Given the description of an element on the screen output the (x, y) to click on. 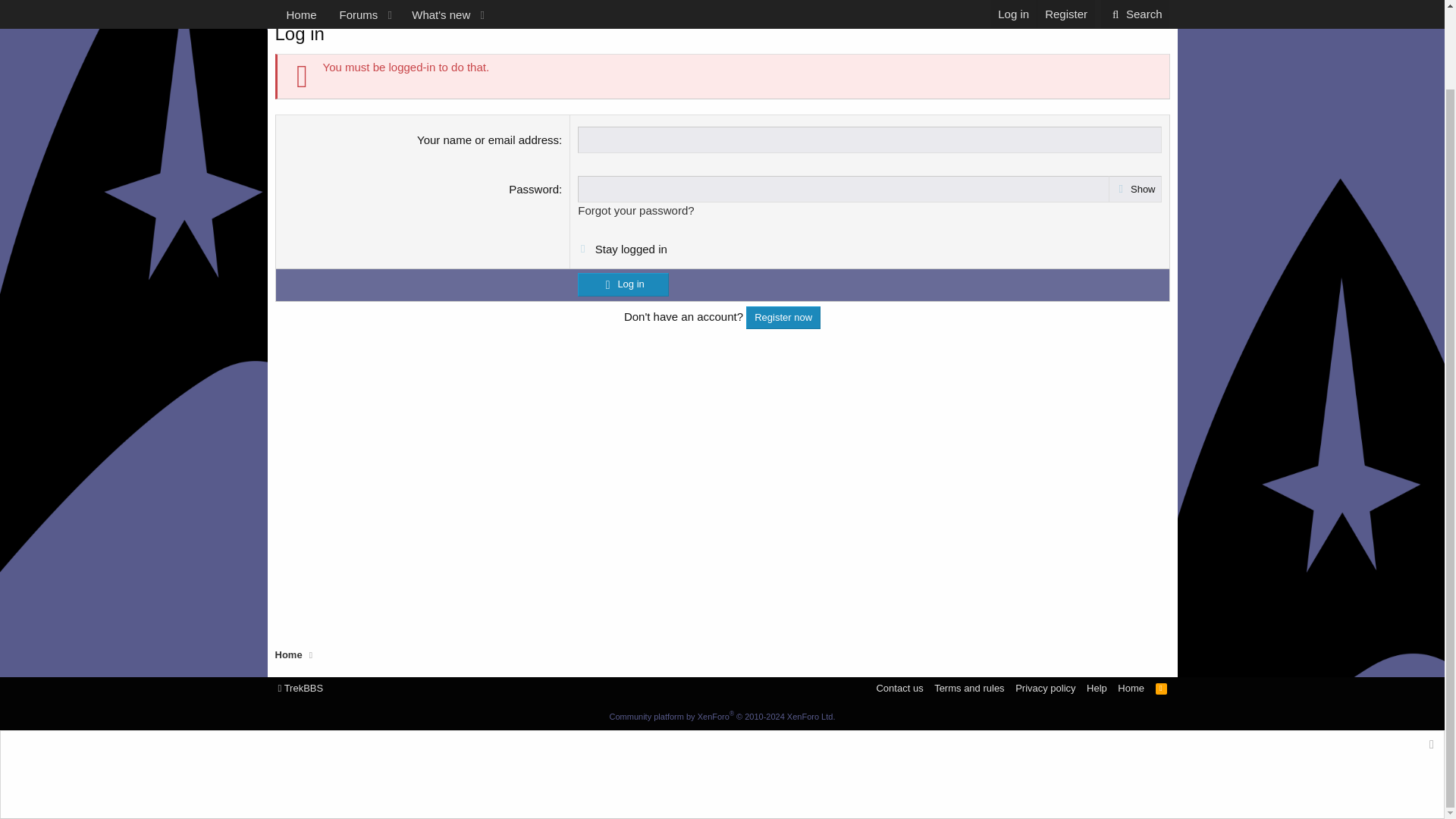
Home (288, 654)
Home (1131, 687)
Forgot your password? (636, 210)
1 (581, 245)
Home (288, 9)
Privacy policy (1044, 687)
Register now (783, 317)
Contact us (899, 687)
TrekBBS (300, 687)
Terms and rules (969, 687)
